Given the description of an element on the screen output the (x, y) to click on. 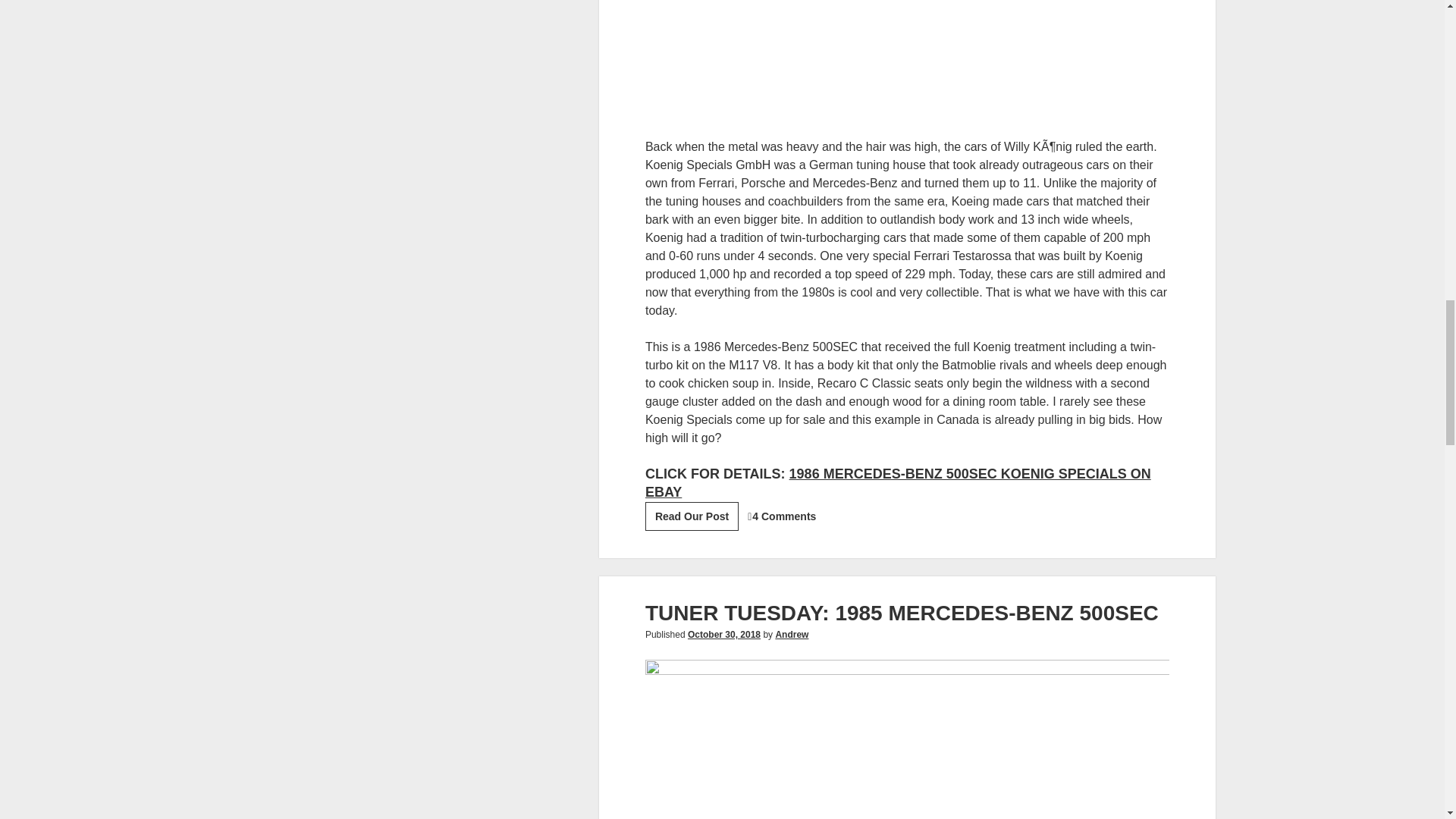
Andrew (791, 634)
4 Comments (783, 516)
October 30, 2018 (723, 634)
TUNER TUESDAY: 1985 MERCEDES-BENZ 500SEC (901, 612)
1986 MERCEDES-BENZ 500SEC KOENIG SPECIALS ON EBAY (898, 482)
